Given the description of an element on the screen output the (x, y) to click on. 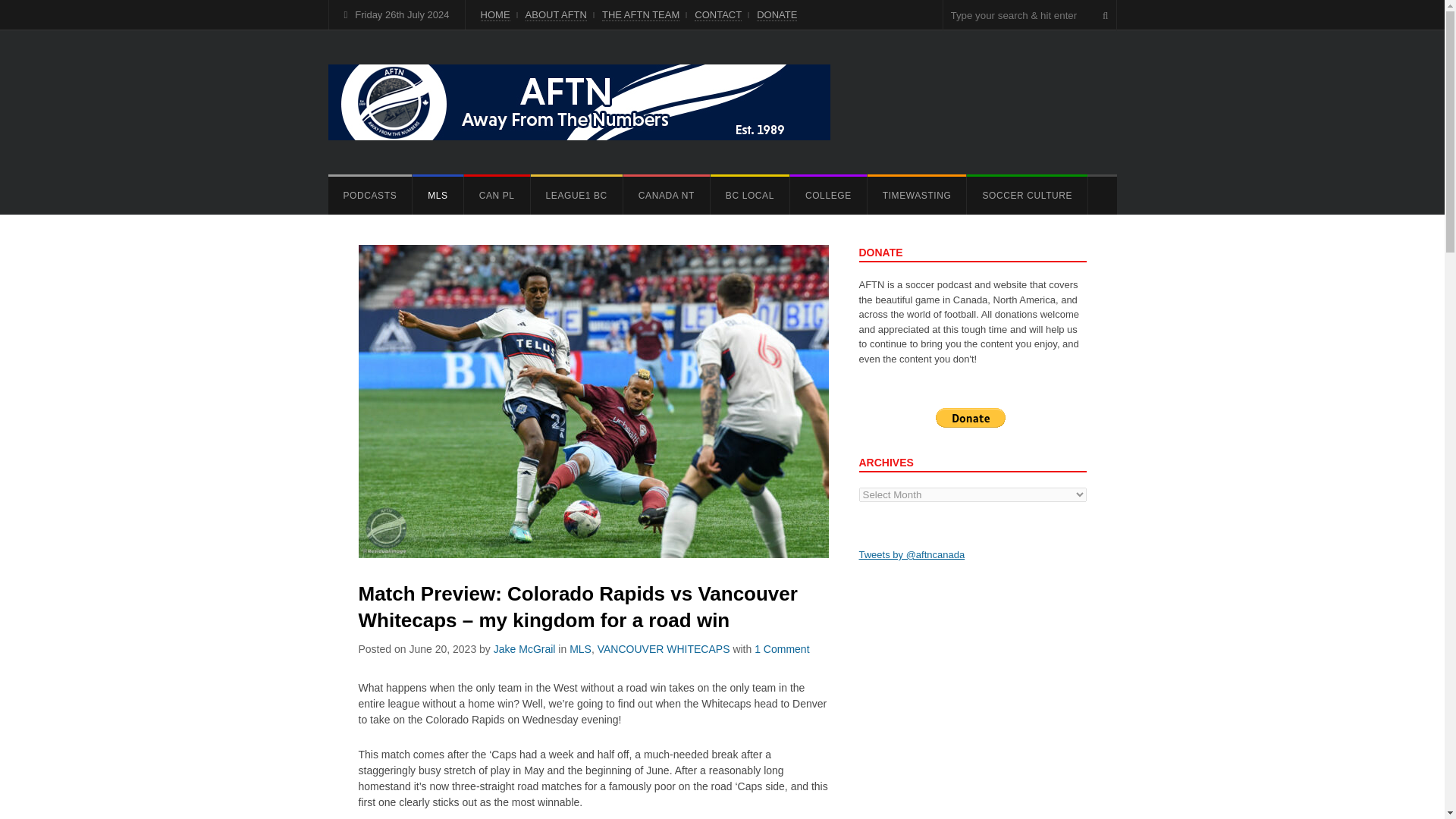
SOCCER CULTURE (1026, 195)
BC LOCAL (749, 195)
LEAGUE1 BC (577, 195)
ABOUT AFTN (555, 15)
Posts by Jake McGrail (524, 648)
PODCASTS (369, 195)
CAN PL (496, 195)
THE AFTN TEAM (640, 15)
CANADA NT (666, 195)
COLLEGE (828, 195)
AFTN (578, 102)
HOME (495, 15)
TIMEWASTING (916, 195)
CONTACT (717, 15)
DONATE (776, 15)
